Given the description of an element on the screen output the (x, y) to click on. 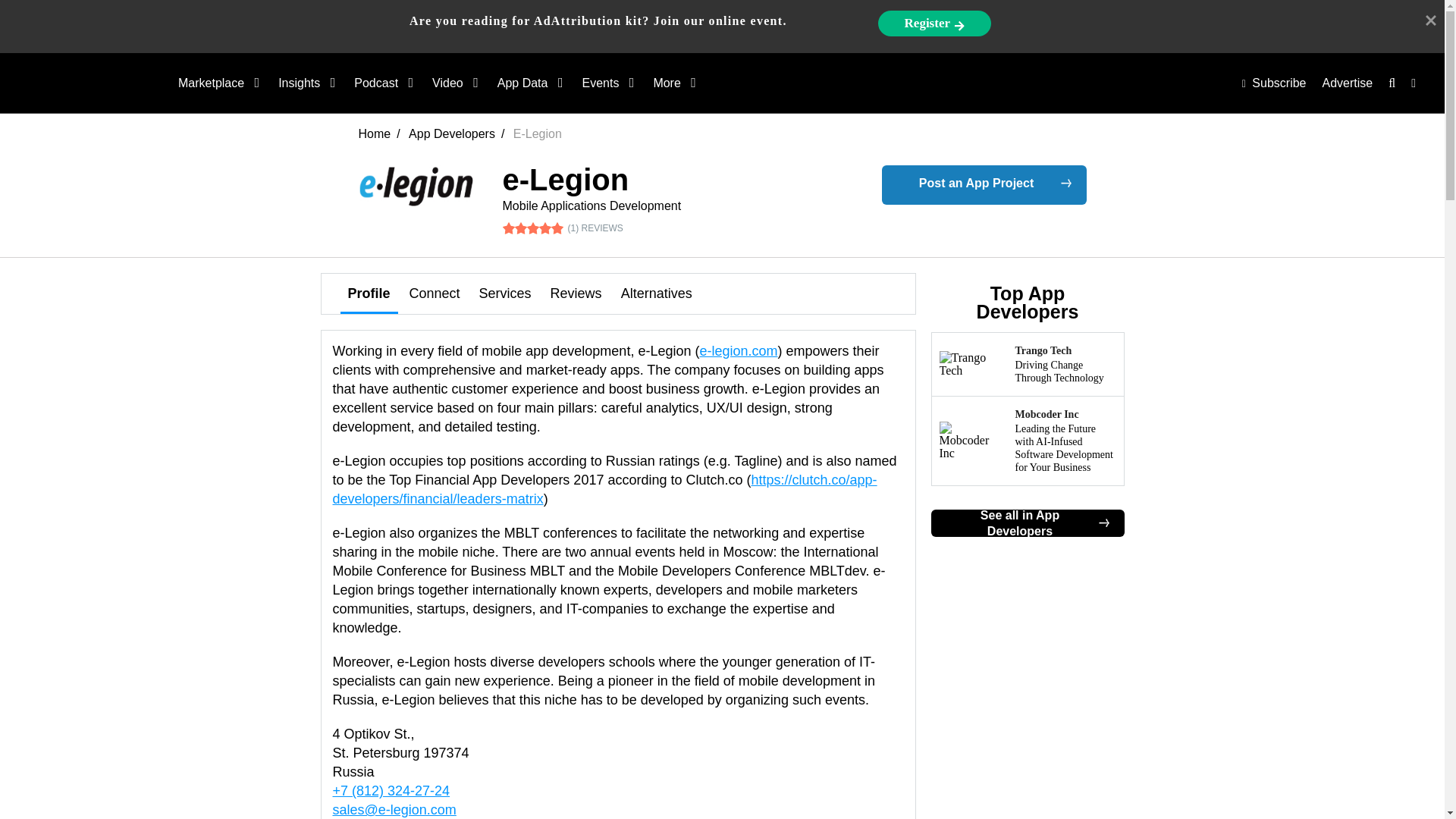
Trango Tech (1027, 363)
Marketplace (216, 83)
Mobcoder Inc (1027, 440)
